Given the description of an element on the screen output the (x, y) to click on. 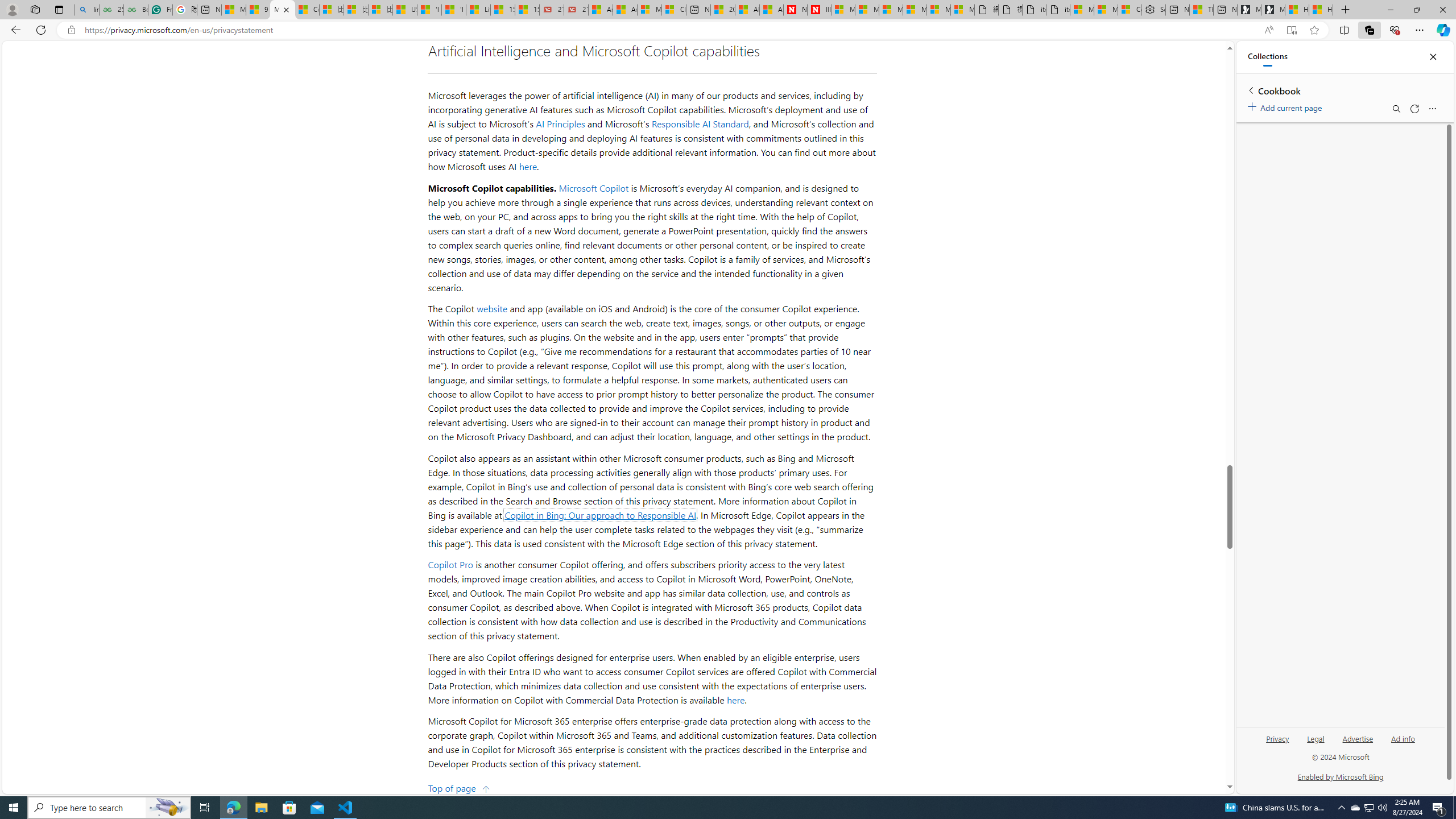
USA TODAY - MSN (404, 9)
Consumer Health Data Privacy Policy (1129, 9)
25 Basic Linux Commands For Beginners - GeeksforGeeks (111, 9)
